Given the description of an element on the screen output the (x, y) to click on. 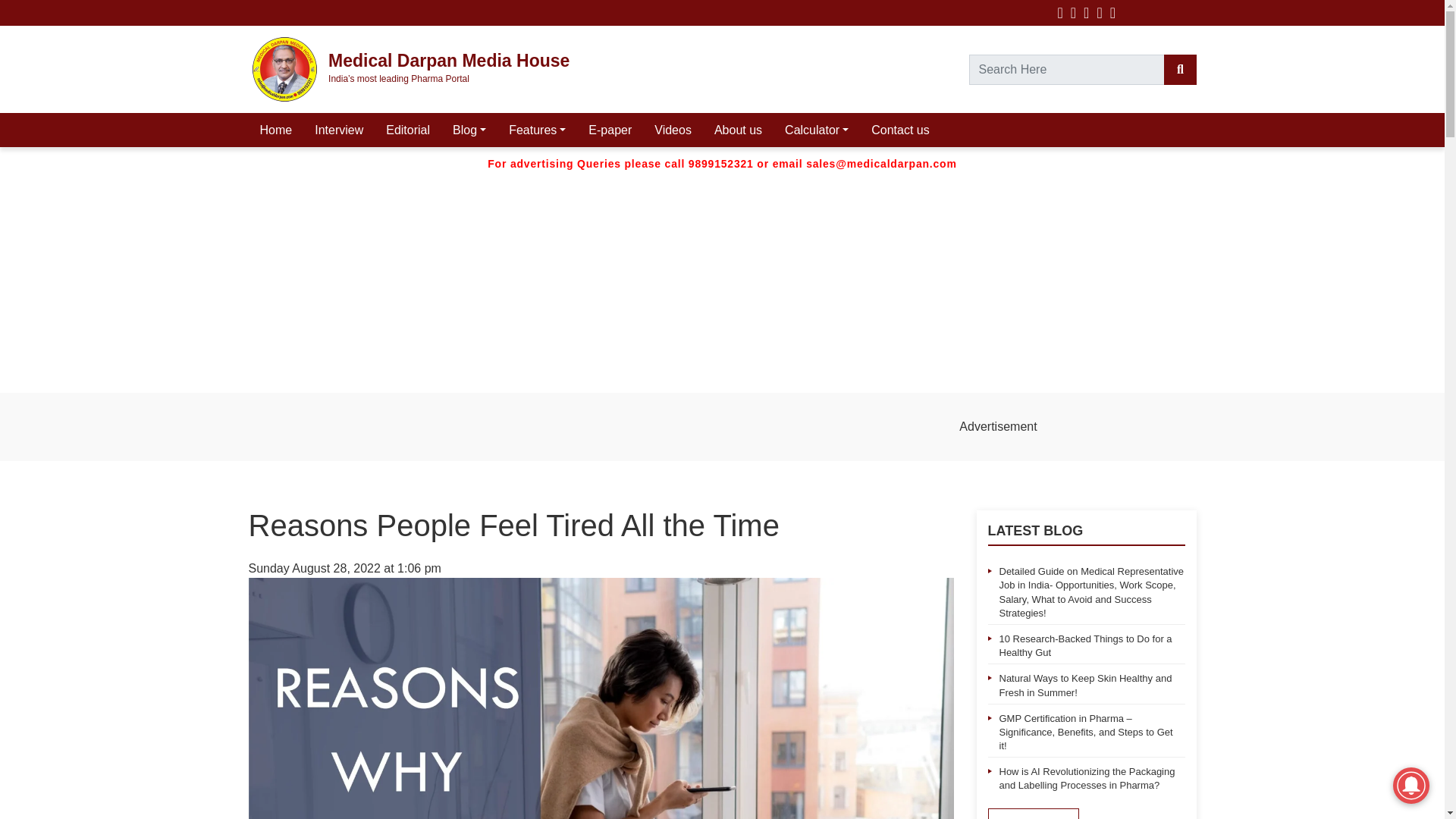
Blog (469, 130)
Features (536, 130)
Interview (338, 130)
Home (276, 130)
Interview (338, 130)
Editorial (407, 130)
Blog (469, 130)
search (1179, 69)
Editorial (407, 130)
E-paper (609, 130)
Home (276, 130)
